Given the description of an element on the screen output the (x, y) to click on. 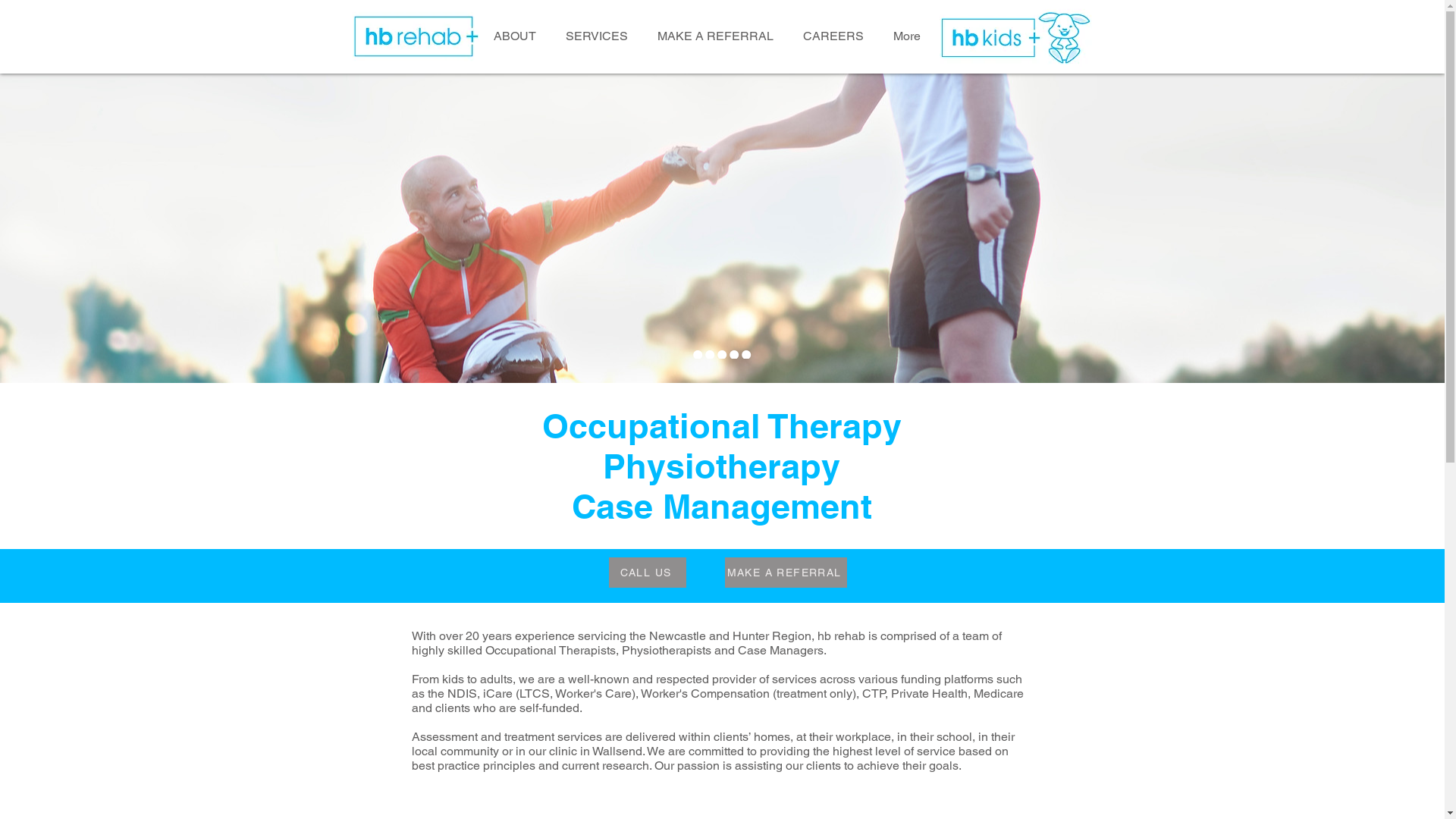
CALL US Element type: text (646, 572)
CAREERS Element type: text (832, 36)
SERVICES Element type: text (596, 36)
MAKE A REFERRAL Element type: text (785, 572)
ABOUT Element type: text (514, 36)
MAKE A REFERRAL Element type: text (714, 36)
